Given the description of an element on the screen output the (x, y) to click on. 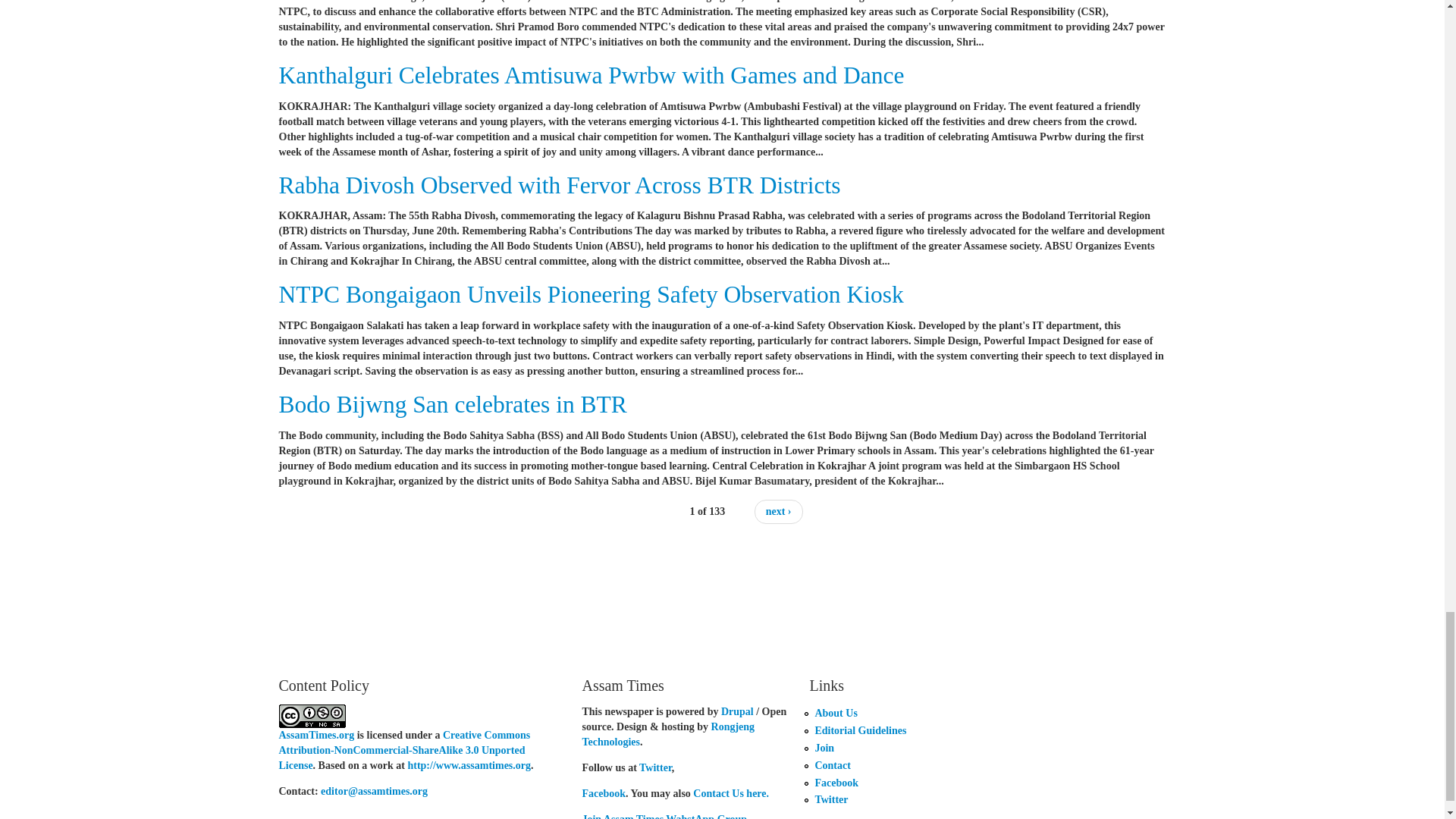
Bodo Bijwng San celebrates in BTR (453, 404)
NTPC Bongaigaon Unveils Pioneering Safety Observation Kiosk (591, 294)
AssamTimes.org (317, 735)
Kanthalguri Celebrates Amtisuwa Pwrbw with Games and Dance (591, 75)
Rabha Divosh Observed with Fervor Across BTR Districts (560, 185)
